Given the description of an element on the screen output the (x, y) to click on. 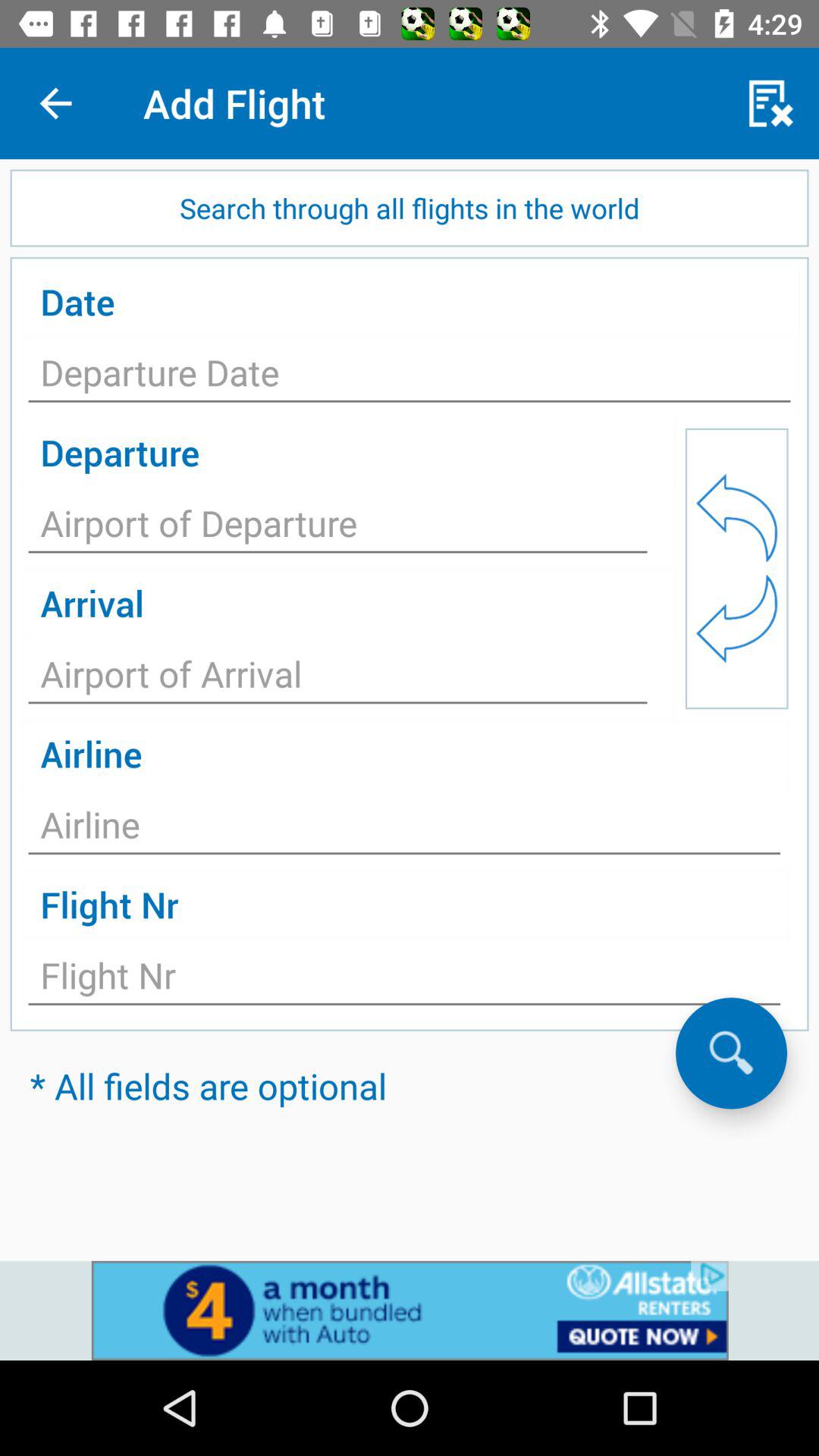
text input field (337, 527)
